Given the description of an element on the screen output the (x, y) to click on. 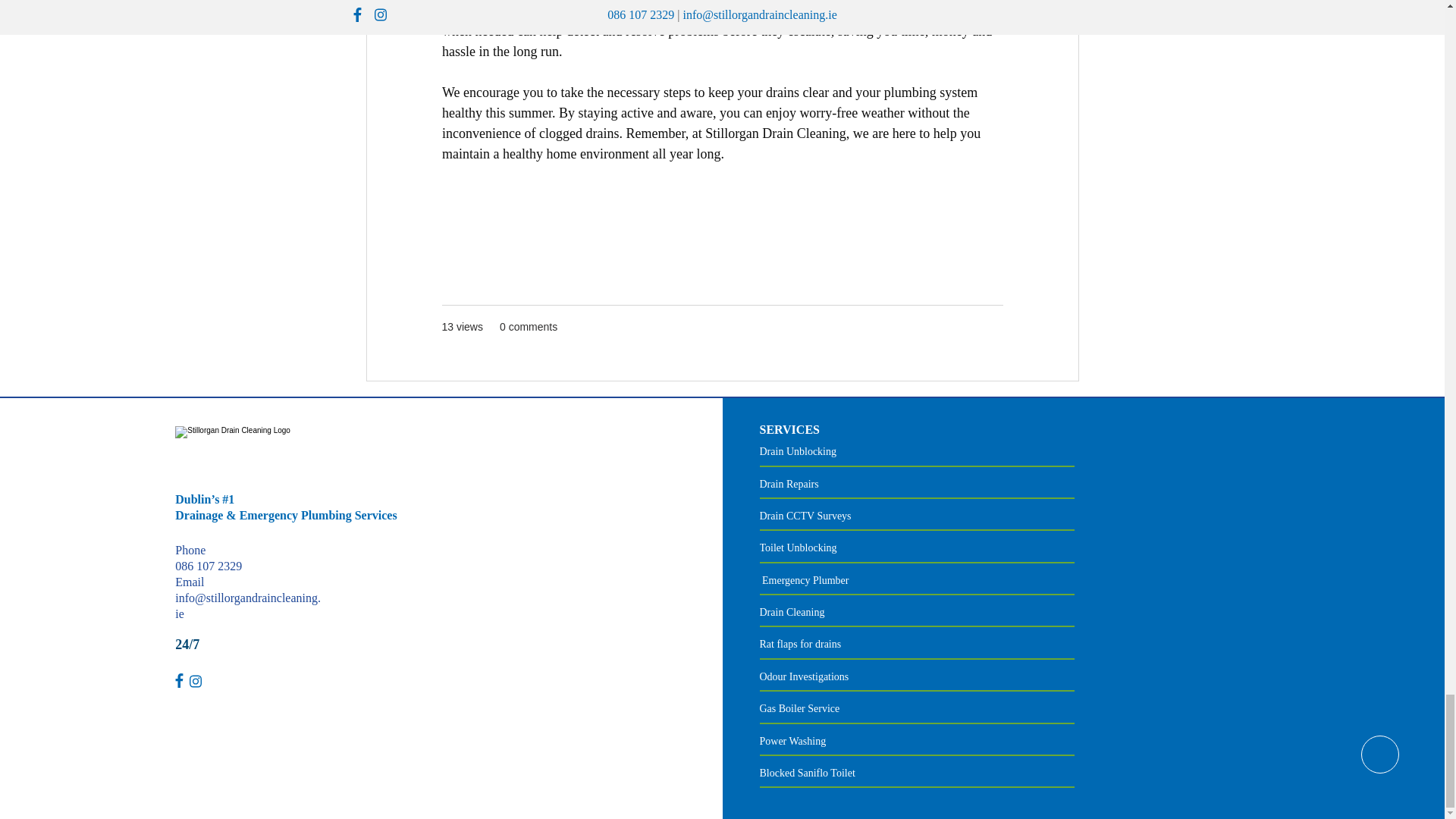
086 107 2329 (207, 565)
Drain Unblocking (797, 451)
Drain Repairs (789, 483)
Drain CCTV Surveys (805, 515)
